Given the description of an element on the screen output the (x, y) to click on. 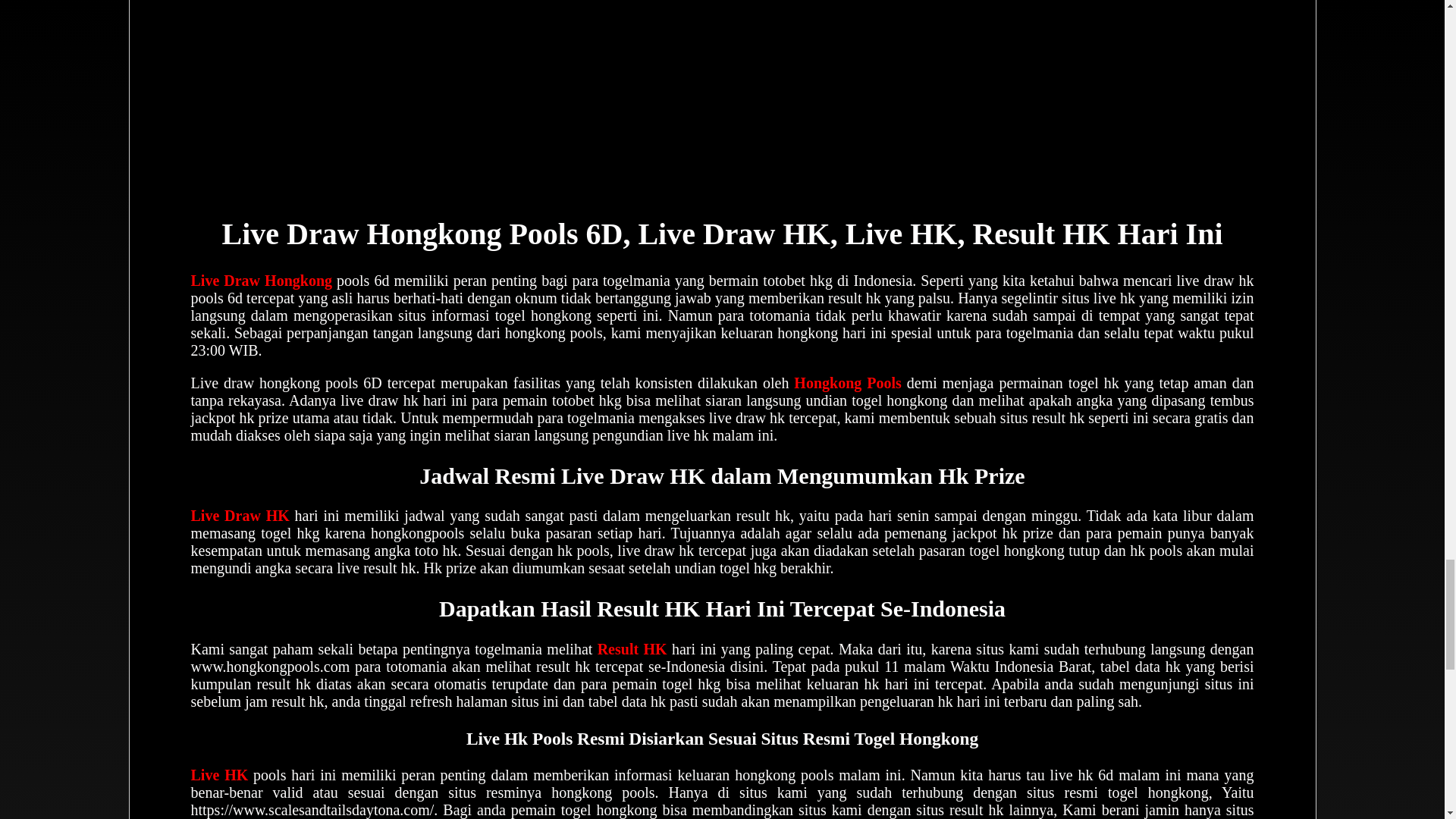
Live HK (219, 774)
Hongkong Pools (847, 382)
Live Draw Hongkong (261, 280)
Live Draw HK (239, 515)
Result HK (631, 648)
